Given the description of an element on the screen output the (x, y) to click on. 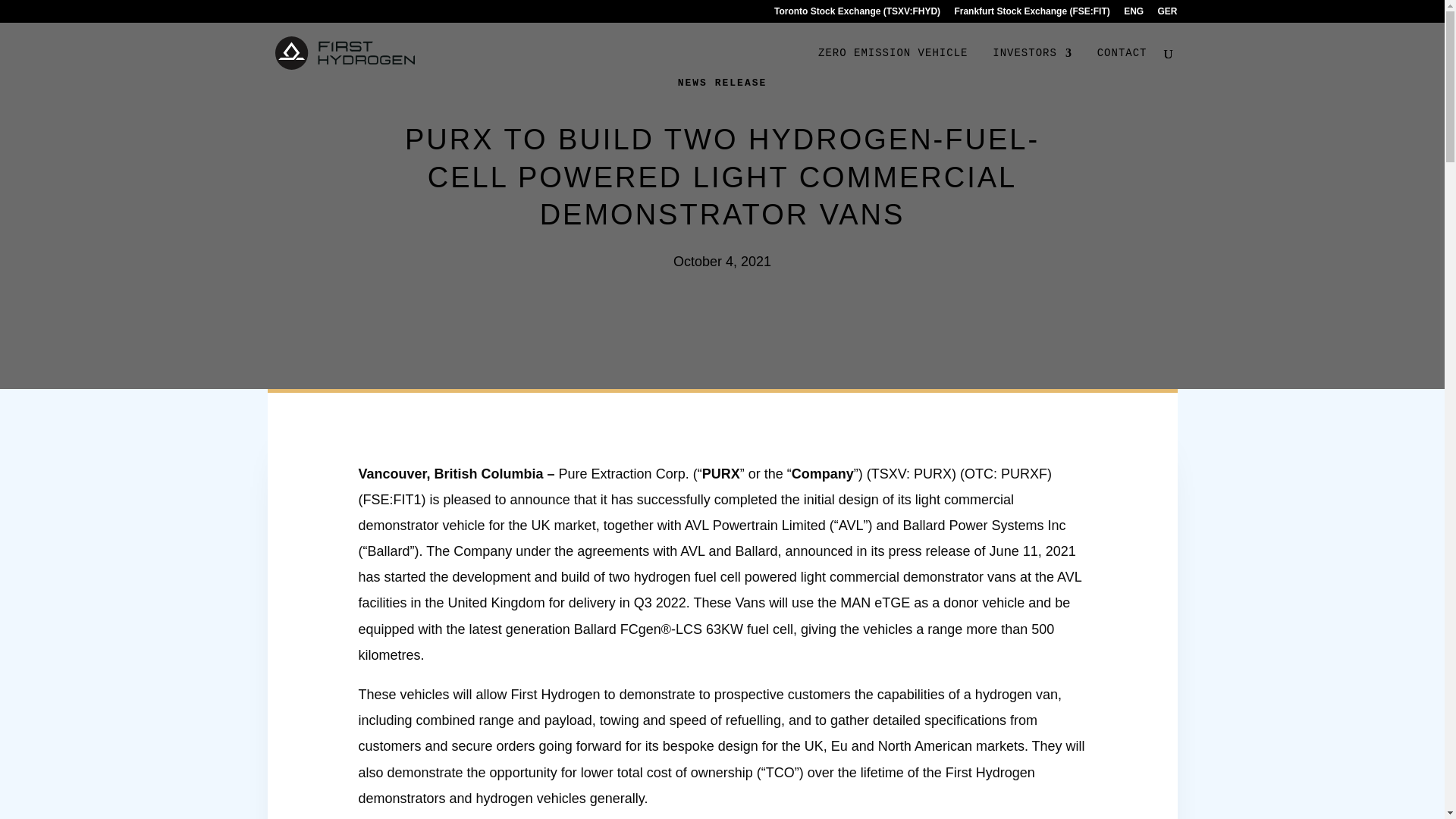
ZERO EMISSION VEHICLE (893, 65)
NEWS RELEASE (722, 82)
ENG (1133, 14)
CONTACT (1122, 65)
GER (1166, 14)
INVESTORS (1031, 65)
